Given the description of an element on the screen output the (x, y) to click on. 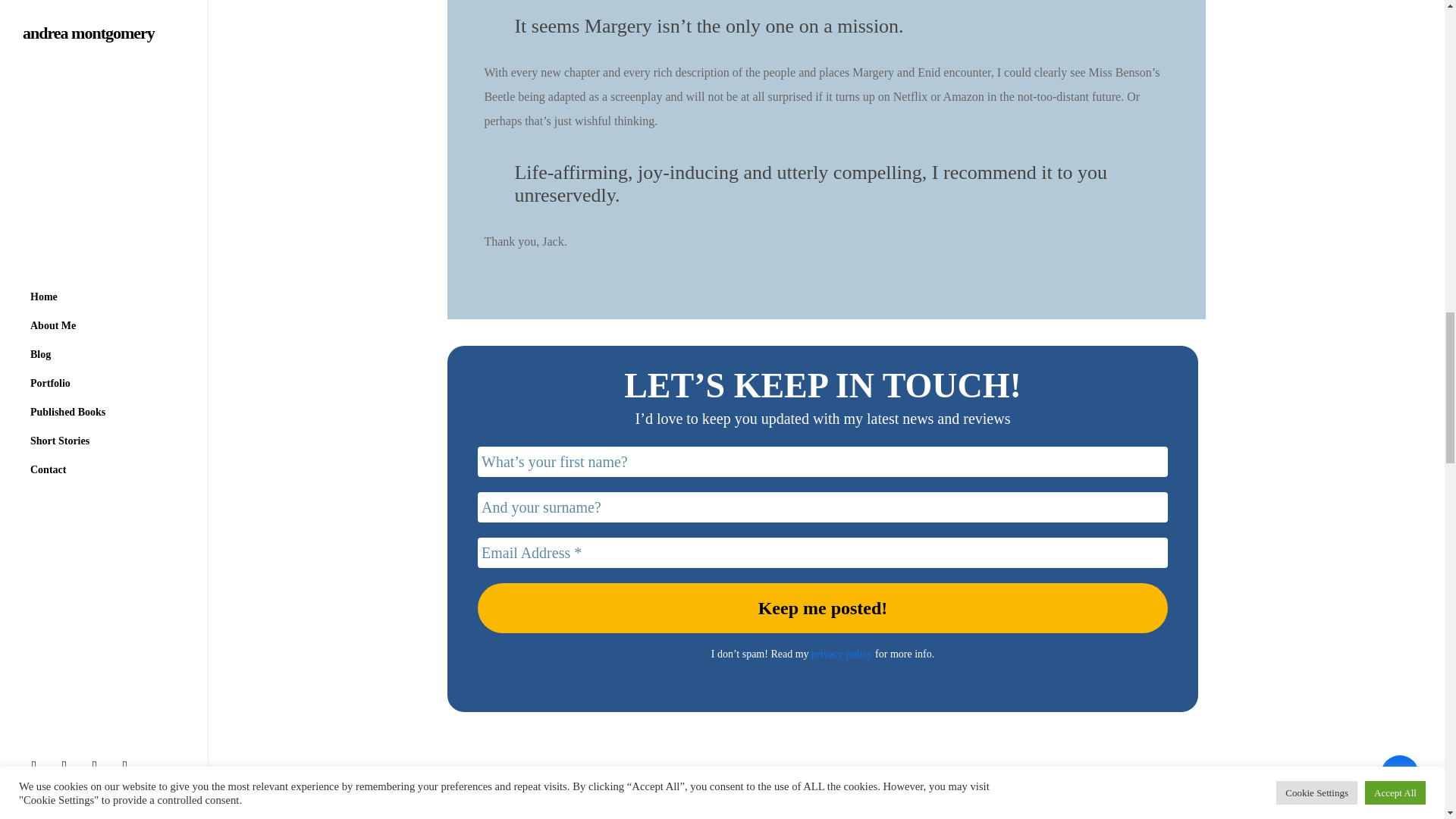
And your surname? (822, 507)
Email Address (822, 552)
privacy policy (841, 654)
Keep me posted! (822, 608)
Keep me posted! (822, 608)
